Given the description of an element on the screen output the (x, y) to click on. 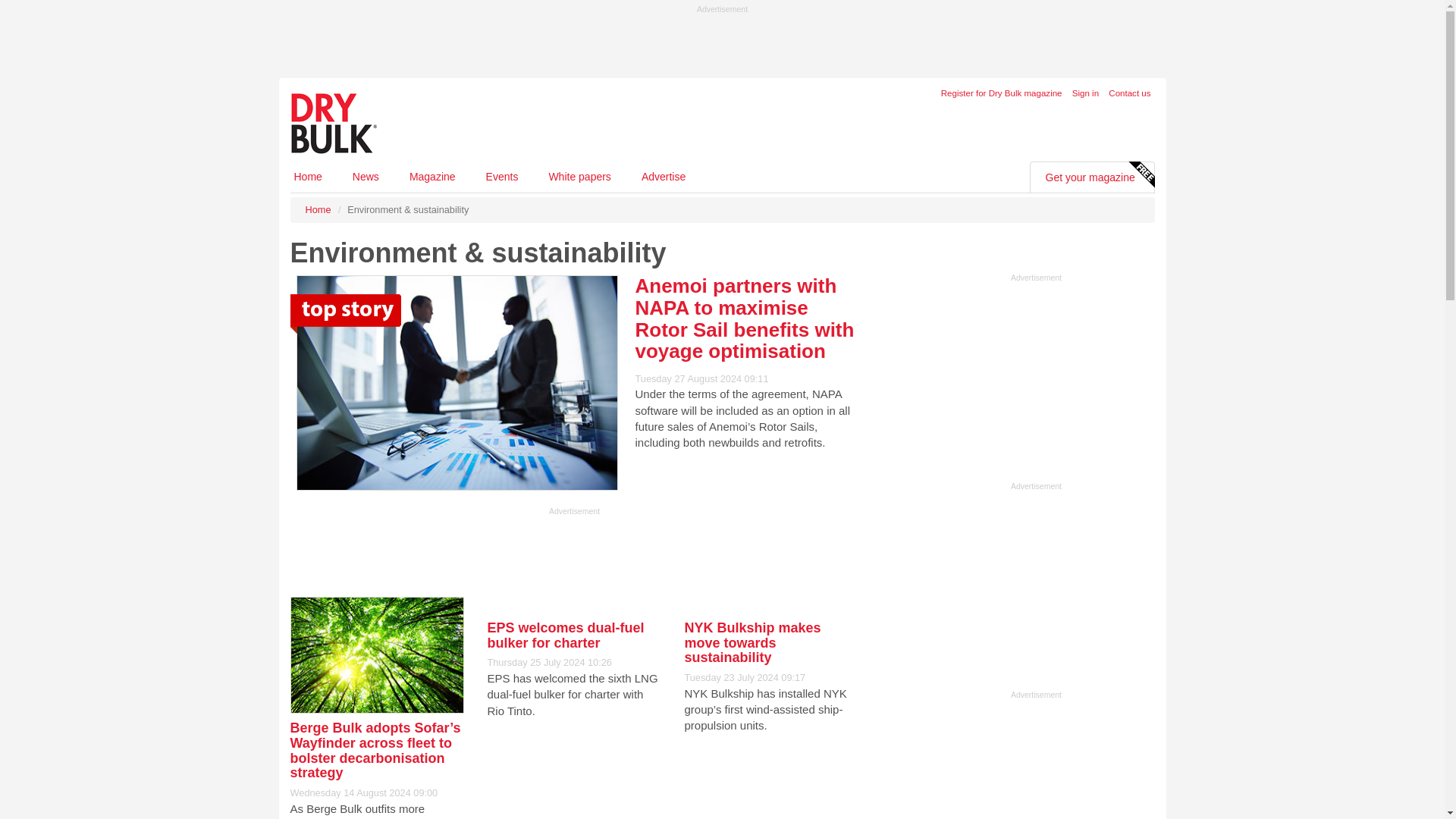
Sign in (1085, 92)
News (365, 176)
Register for your magazine (1001, 92)
Home (317, 209)
Get your magazine (1091, 177)
Contact us (1129, 92)
Register for Dry Bulk magazine (1001, 92)
White papers (579, 176)
Contact us (1129, 92)
Events (502, 176)
